Given the description of an element on the screen output the (x, y) to click on. 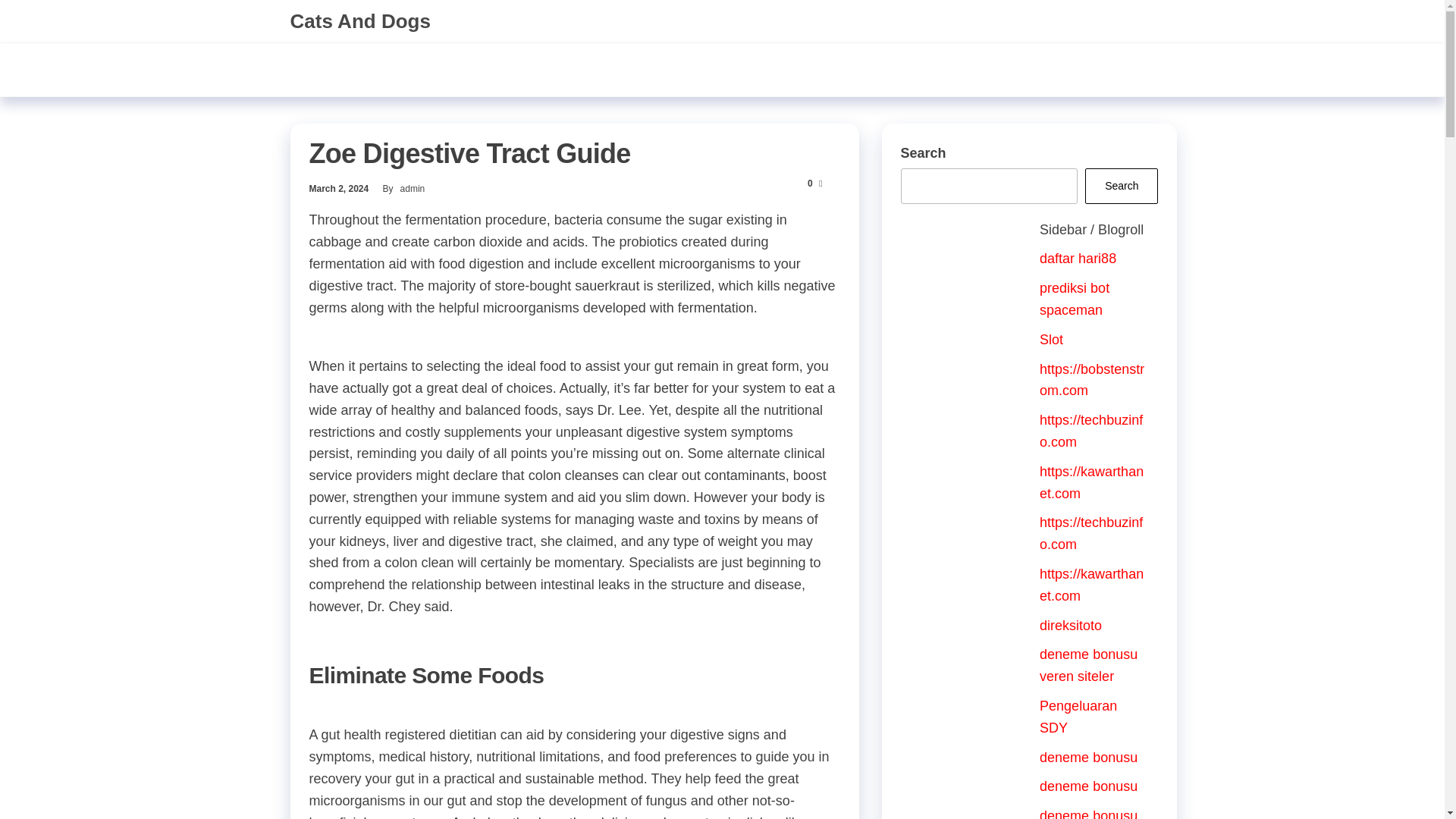
admin (412, 188)
daftar hari88 (1077, 258)
Pengeluaran SDY (1077, 716)
deneme bonusu (1088, 757)
Slot (1050, 339)
direksitoto (1070, 625)
deneme bonusu veren siteler (1088, 665)
deneme bonusu veren siteler (1088, 813)
deneme bonusu (1088, 785)
Cats And Dogs (359, 20)
prediksi bot spaceman (1074, 298)
Search (1120, 185)
